Given the description of an element on the screen output the (x, y) to click on. 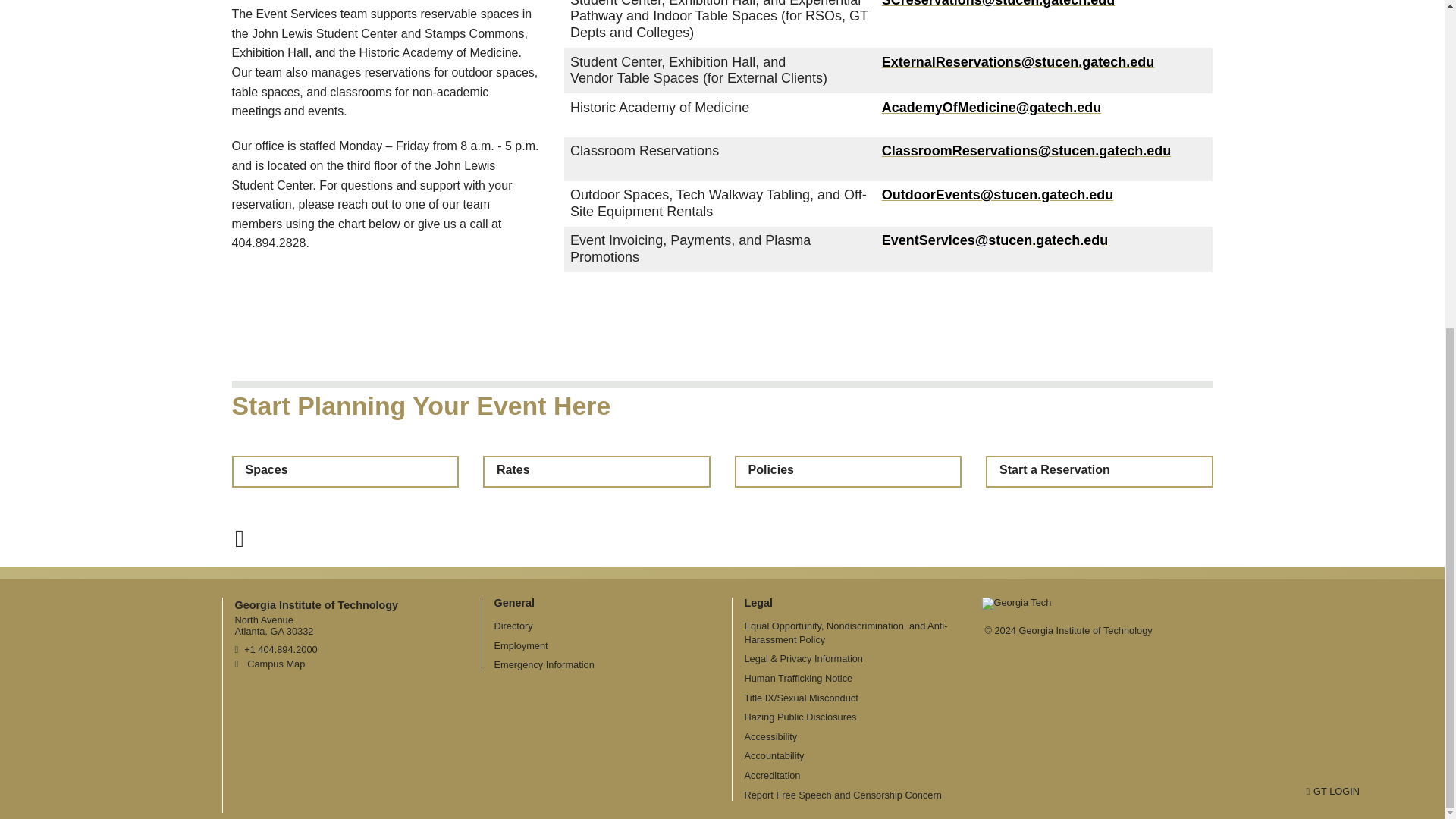
Georgia Tech (1016, 606)
Georgia Institute of Technology Accreditation (772, 775)
Legal Main Menu Category (758, 602)
Georgia Institute of Technology Accessibility Resources (770, 736)
Georgia Institute of Technology Directory (513, 625)
Georgia Institute of Technology Emergency Information (544, 664)
Georgia Institute of Technology Employment (521, 645)
Georgia Human Trafficking Resources (798, 677)
